Given the description of an element on the screen output the (x, y) to click on. 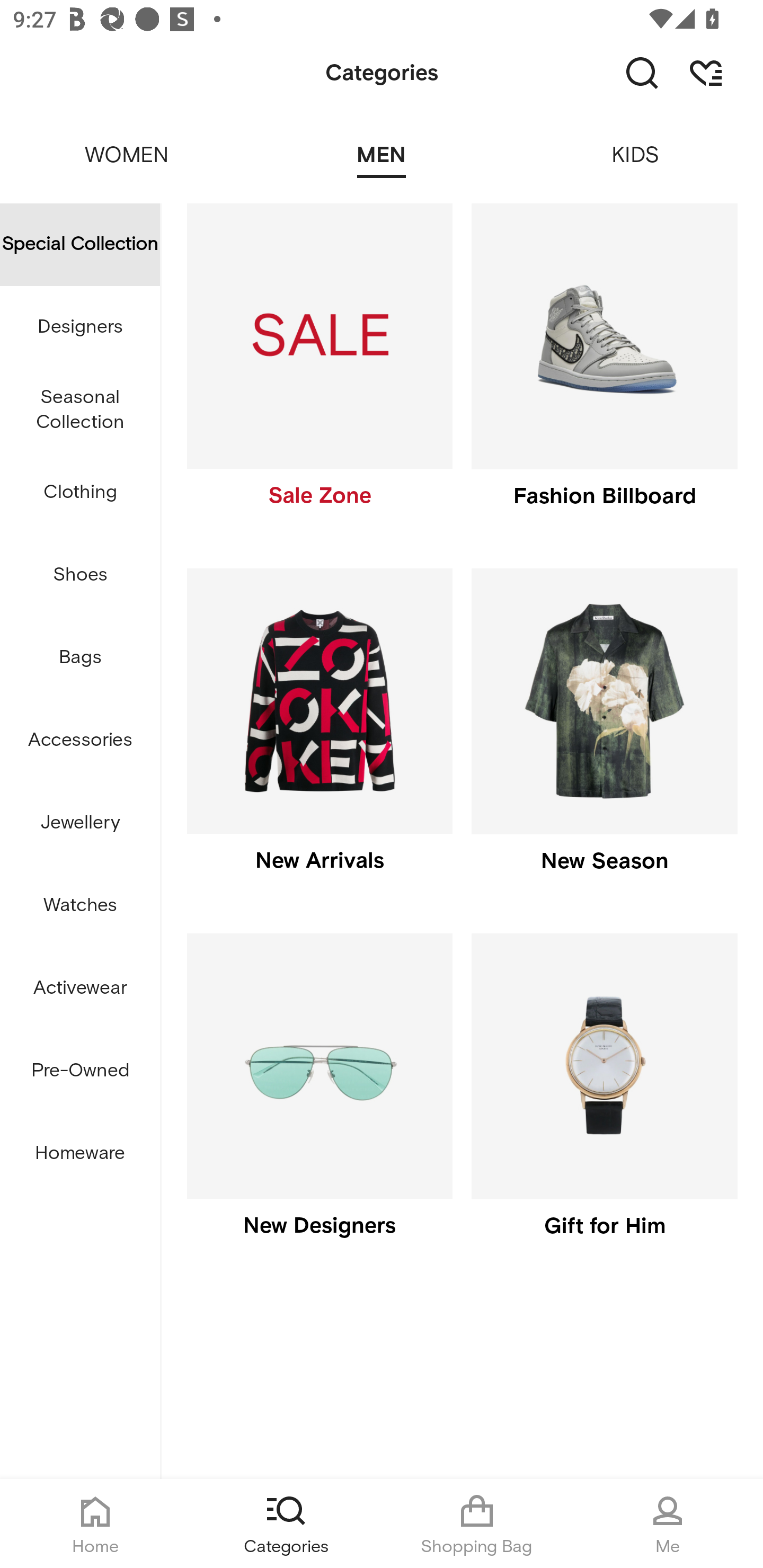
WOMEN (127, 143)
KIDS (635, 143)
Special Collection (80, 244)
Sale Zone (319, 369)
Fashion Billboard (604, 369)
Designers (80, 326)
Seasonal Collection (80, 409)
Clothing (80, 492)
Shoes (80, 575)
New Arrivals (319, 734)
New Season (604, 734)
Bags (80, 657)
Accessories (80, 740)
Jewellery (80, 822)
Watches (80, 905)
New Designers (319, 1099)
Gift for Him (604, 1099)
Activewear (80, 988)
Pre-Owned (80, 1070)
Homeware (80, 1152)
Home (95, 1523)
Shopping Bag (476, 1523)
Me (667, 1523)
